Given the description of an element on the screen output the (x, y) to click on. 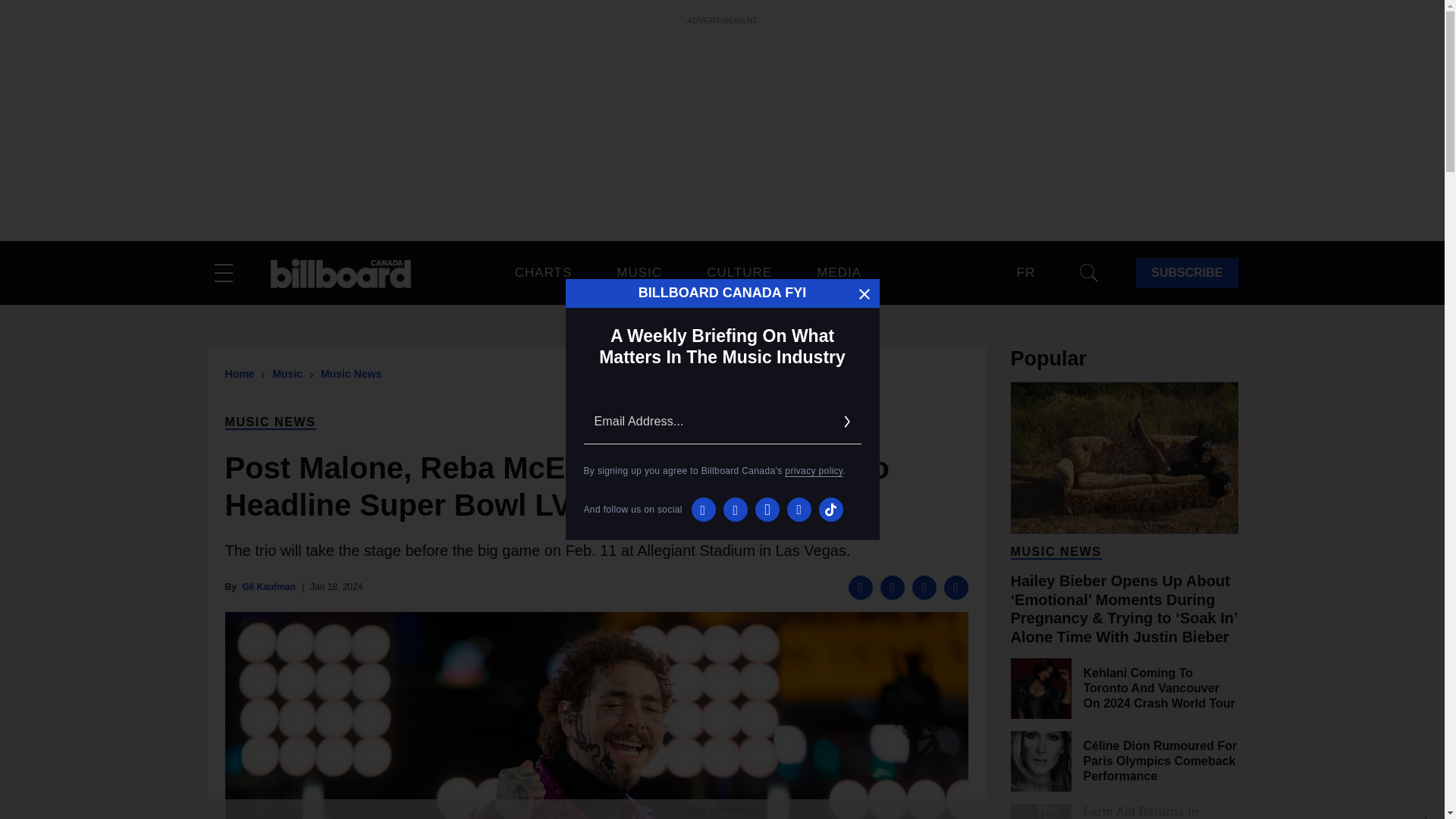
MUSIC (638, 272)
CHARTS (543, 272)
SUBSCRIBE (1186, 272)
FR (1025, 273)
CULTURE (738, 272)
MEDIA (838, 272)
Copy this link to clipboard (955, 587)
